Given the description of an element on the screen output the (x, y) to click on. 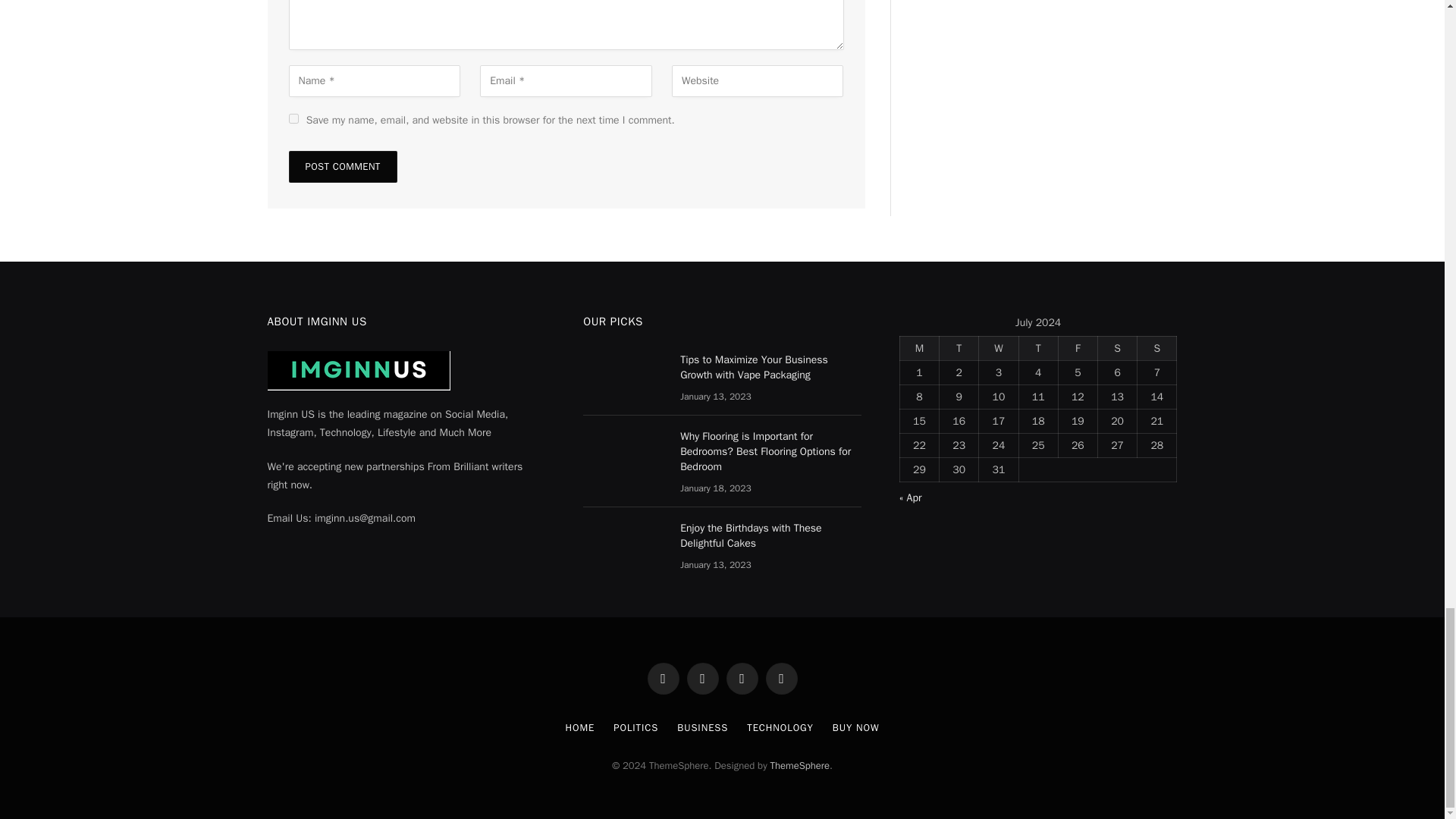
yes (293, 118)
Post Comment (342, 166)
